Given the description of an element on the screen output the (x, y) to click on. 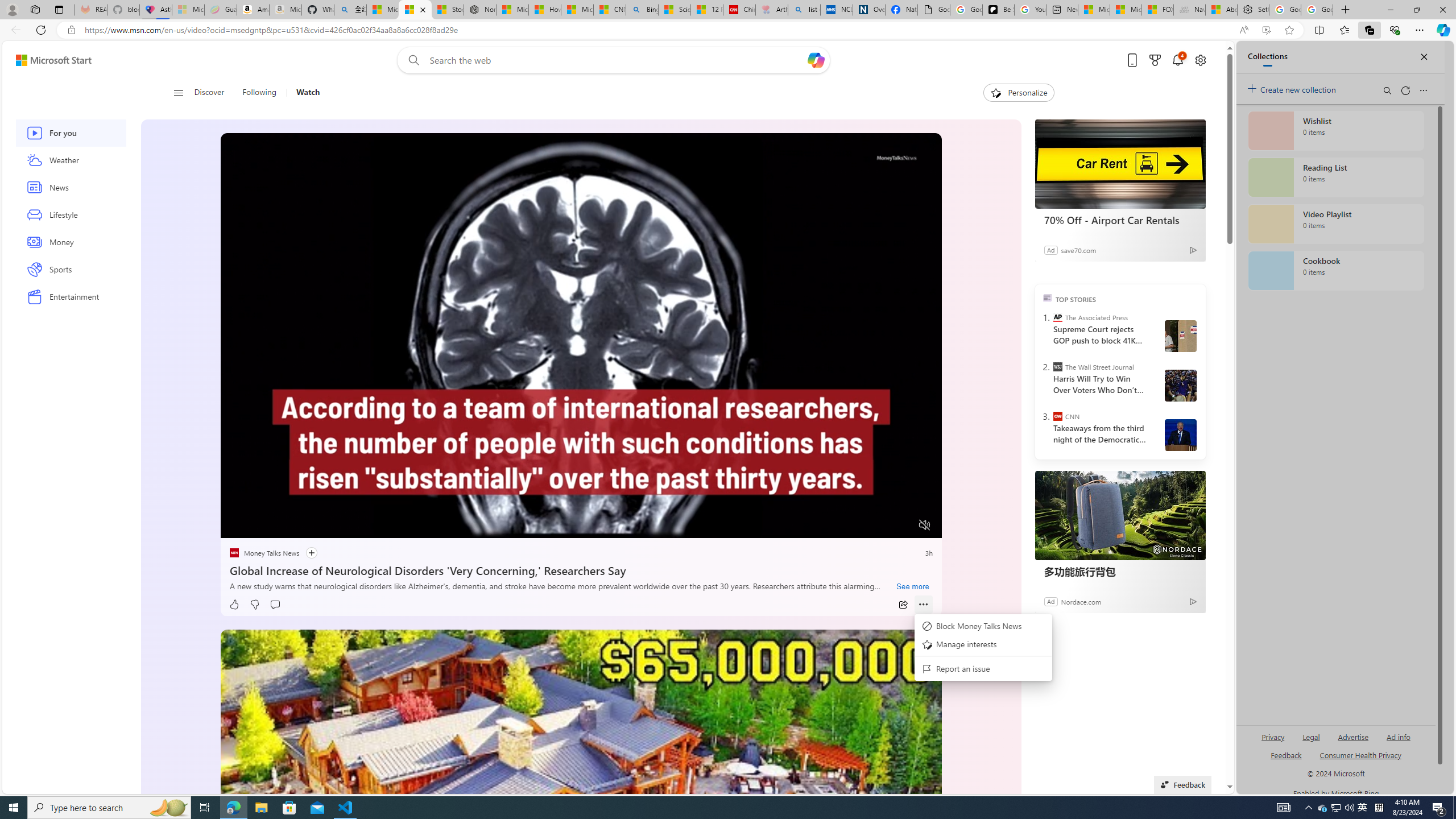
Enhance video (1266, 29)
The Associated Press (1057, 316)
Class: menu (983, 647)
